Given the description of an element on the screen output the (x, y) to click on. 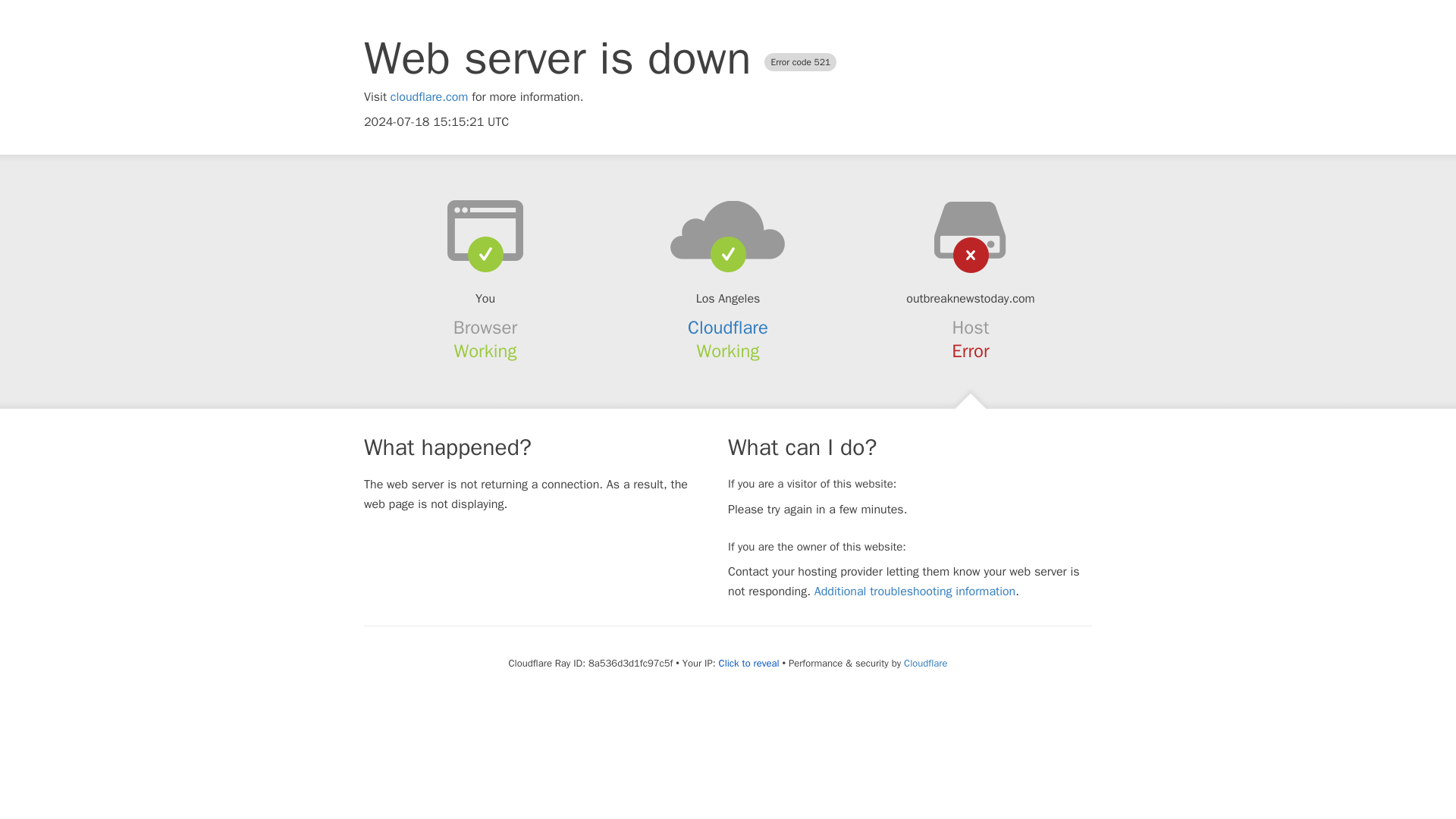
Click to reveal (748, 663)
Cloudflare (727, 327)
cloudflare.com (429, 96)
Additional troubleshooting information (913, 590)
Cloudflare (925, 662)
